Given the description of an element on the screen output the (x, y) to click on. 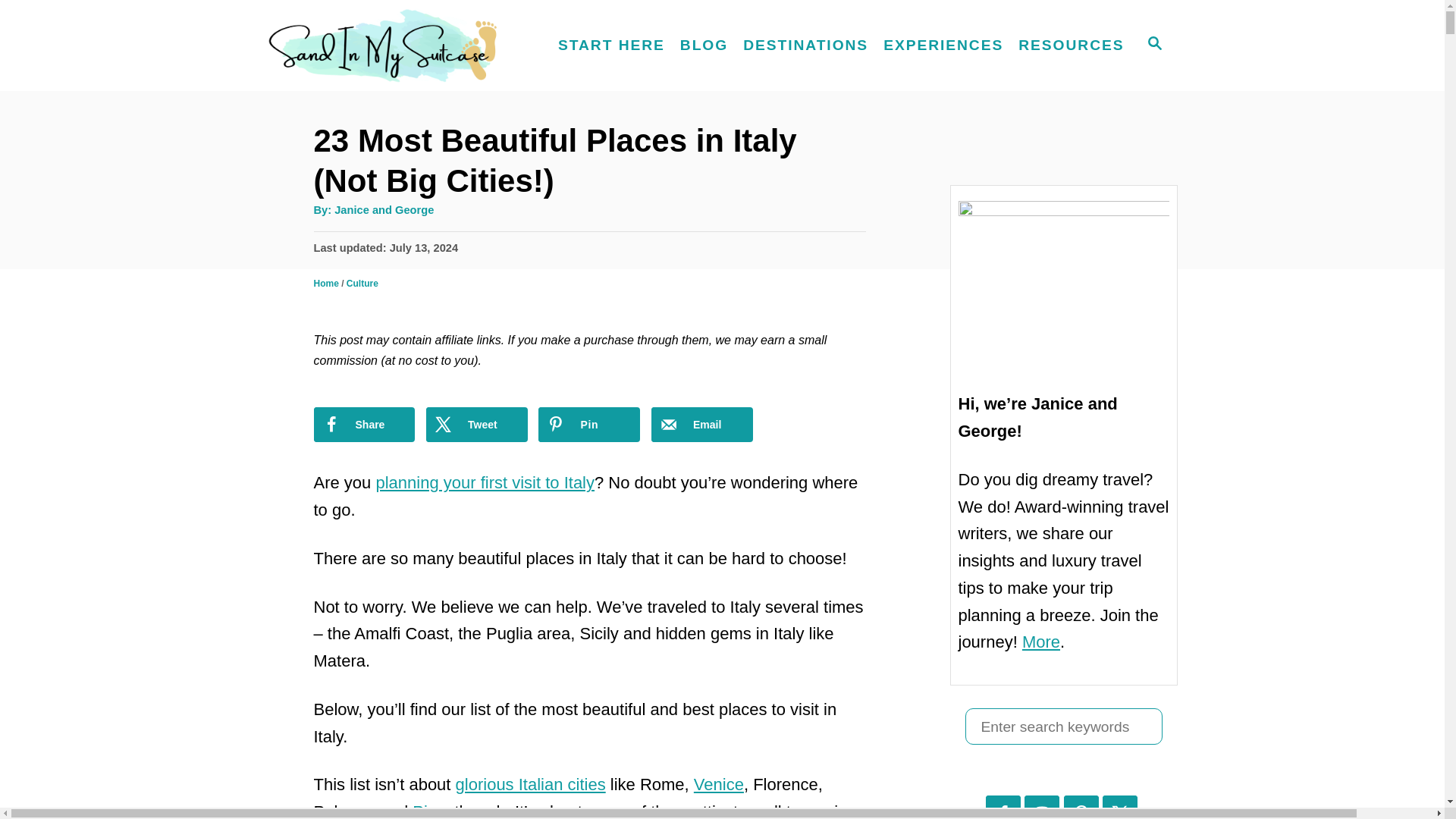
Share on Facebook (364, 424)
Sand In My Suitcase (394, 45)
SEARCH (1153, 45)
BLOG (703, 45)
Save to Pinterest (589, 424)
Share on X (476, 424)
EXPERIENCES (943, 45)
DESTINATIONS (805, 45)
RESOURCES (1070, 45)
Send over email (701, 424)
START HERE (611, 45)
